Given the description of an element on the screen output the (x, y) to click on. 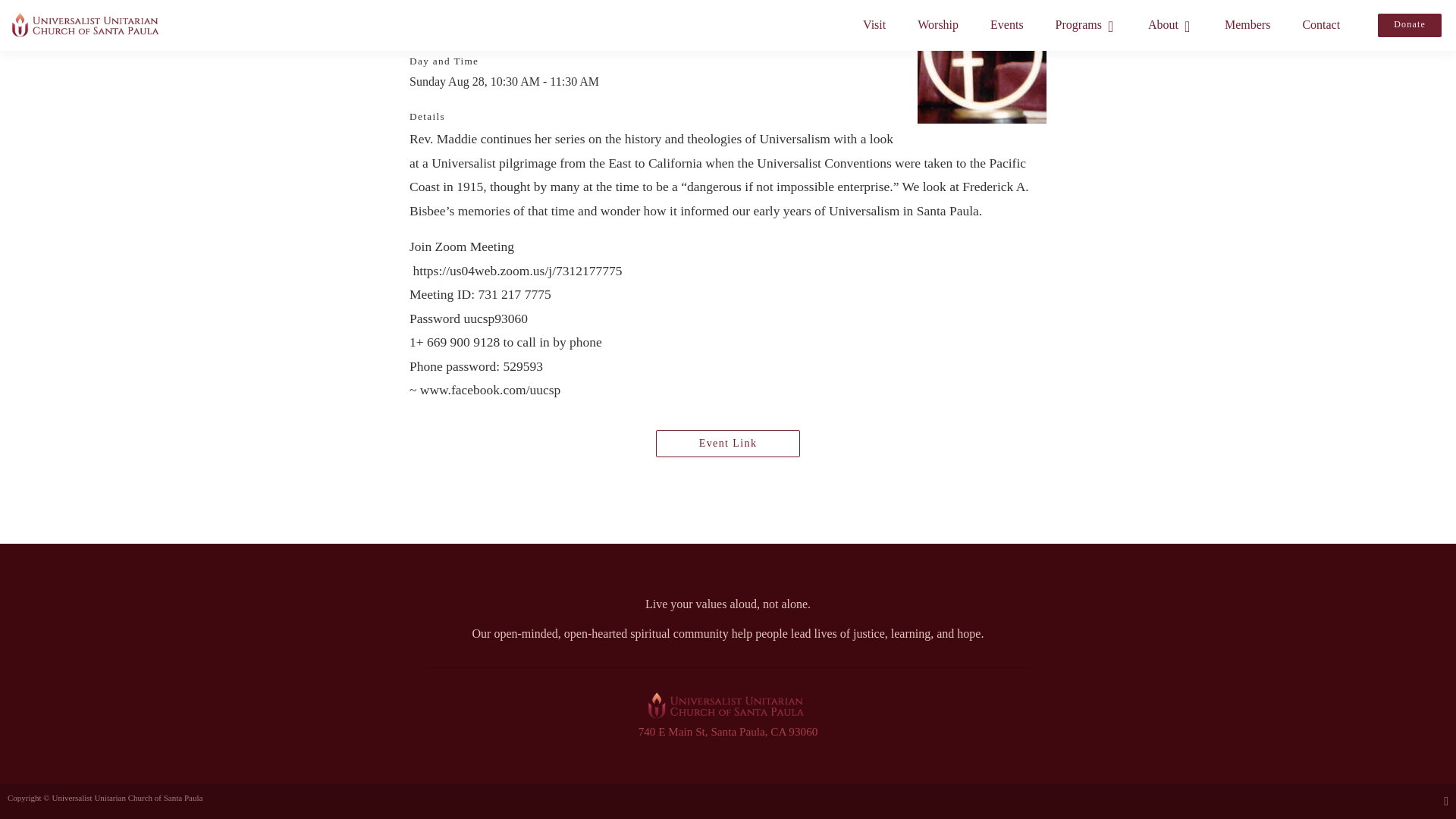
Event Link (727, 443)
740 E Main St, Santa Paula, CA 93060 (728, 730)
